Given the description of an element on the screen output the (x, y) to click on. 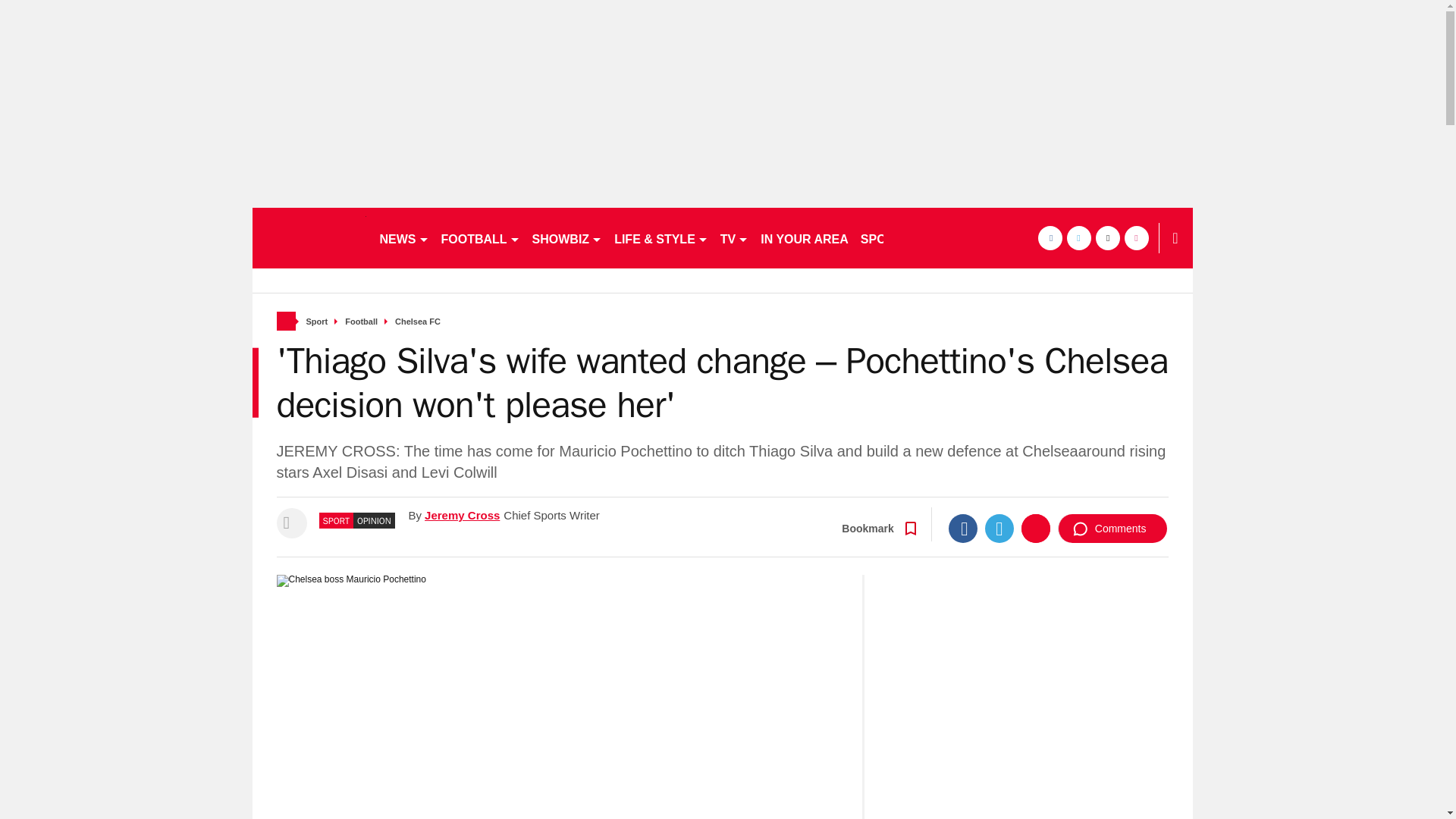
instagram (1136, 238)
NEWS (402, 238)
Comments (1112, 528)
tiktok (1106, 238)
Facebook (962, 528)
facebook (1048, 238)
FOOTBALL (480, 238)
SHOWBIZ (566, 238)
dailystar (308, 238)
Twitter (999, 528)
twitter (1077, 238)
